Given the description of an element on the screen output the (x, y) to click on. 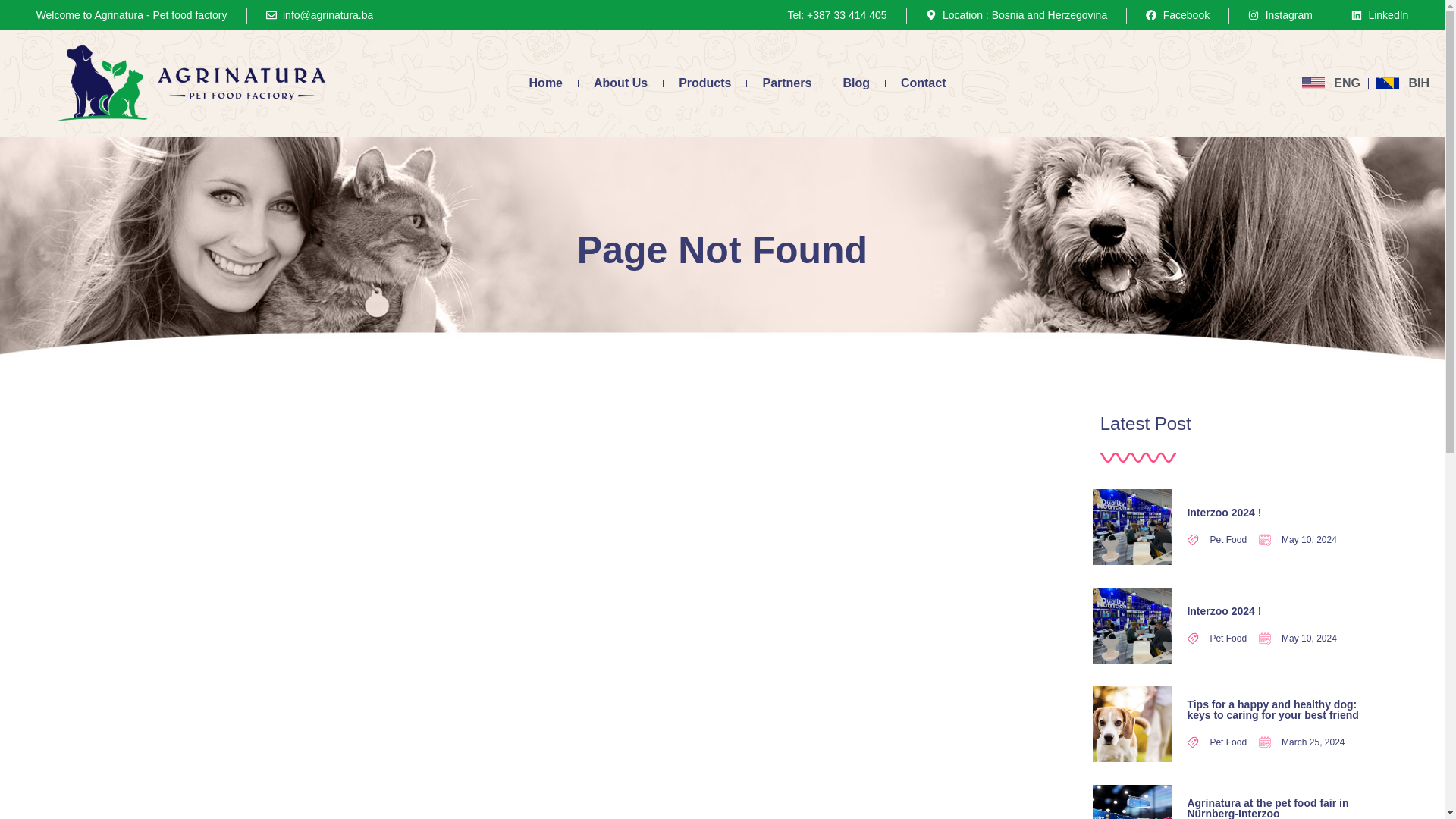
BIH (1402, 83)
Instagram (1280, 15)
Products (704, 83)
LinkedIn (1379, 15)
Blog (856, 83)
Contact (922, 83)
Home (545, 83)
Facebook (1177, 15)
Partners (786, 83)
ENG (1330, 83)
About Us (620, 83)
Location : Bosnia and Herzegovina (1017, 15)
